Given the description of an element on the screen output the (x, y) to click on. 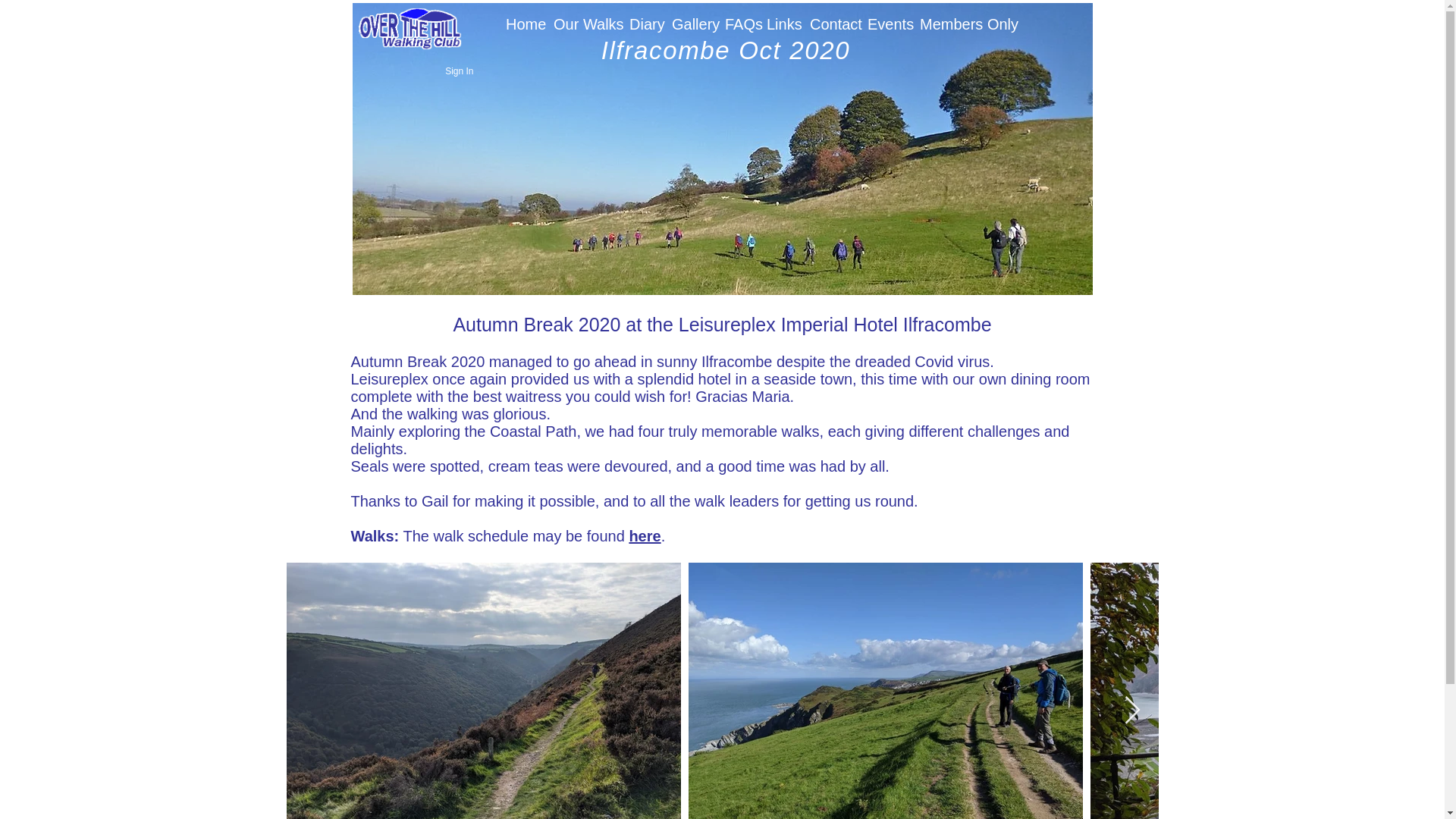
Sign In (458, 71)
here (644, 535)
Contact (834, 24)
Gallery (693, 24)
Diary (645, 24)
Our Walks (587, 24)
Links (783, 24)
Home (524, 24)
OTH Logo New Blue v2.gif (410, 28)
FAQs (740, 24)
